Given the description of an element on the screen output the (x, y) to click on. 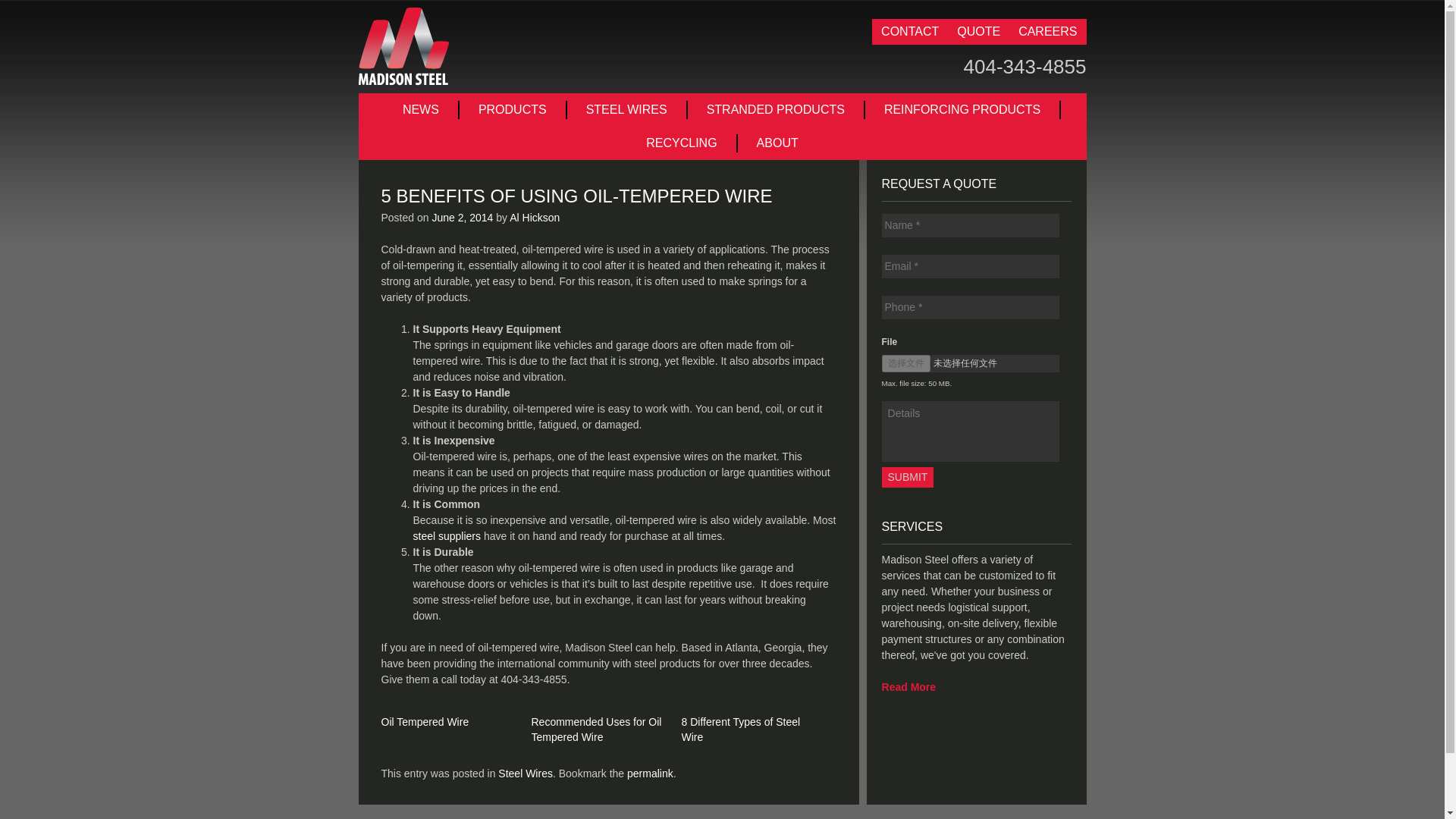
steel suppliers (446, 535)
MADISON STEEL (403, 46)
permalink (649, 773)
PRODUCTS (513, 109)
Read More (909, 686)
ABOUT (777, 143)
8 Different Types of Steel Wire (740, 728)
Al Hickson (534, 217)
Submit (908, 476)
8 Different Types of Steel Wire (740, 728)
